Given the description of an element on the screen output the (x, y) to click on. 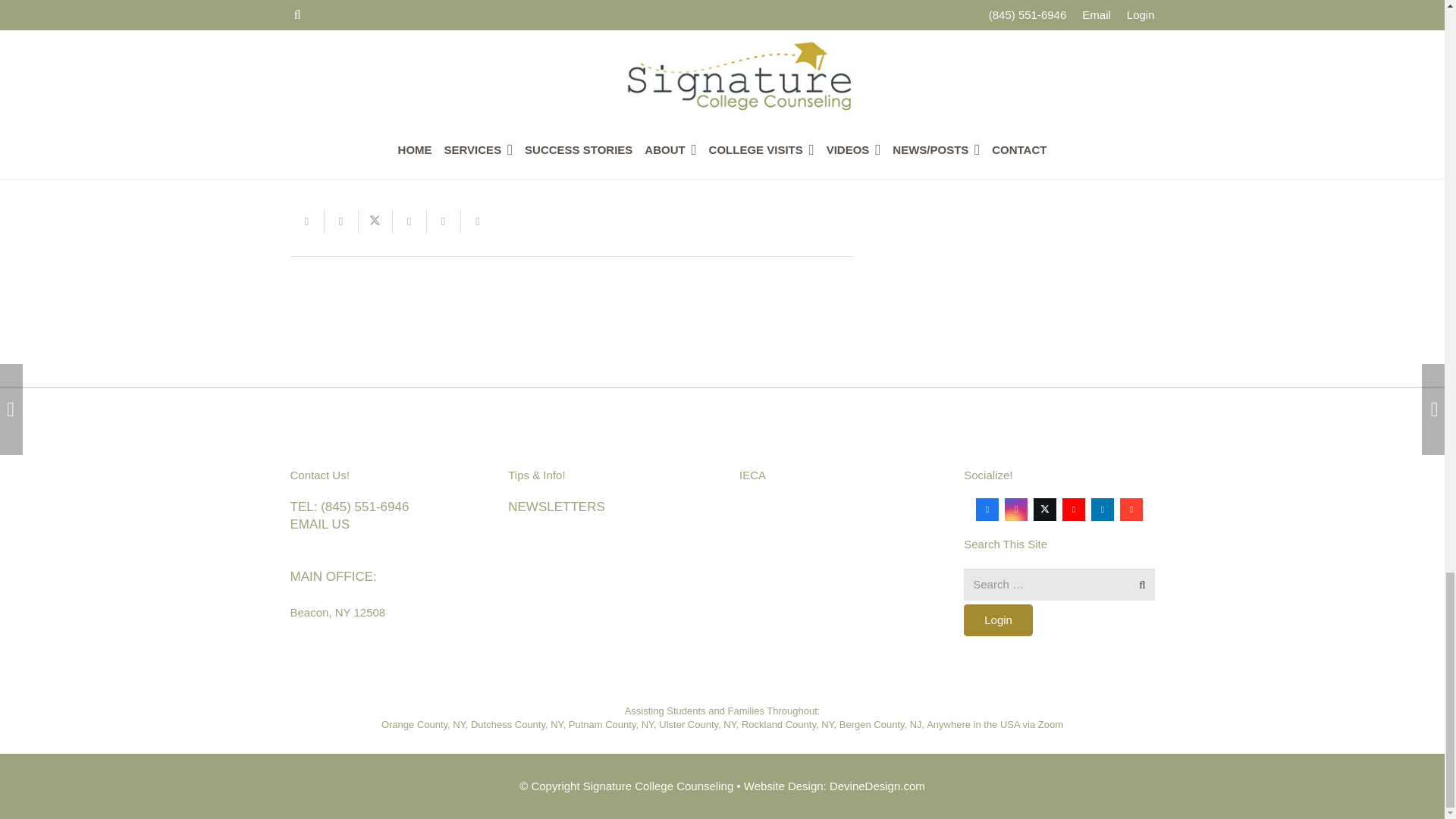
Facebook (986, 508)
Share this (409, 220)
Share this (341, 220)
LinkedIn (1101, 508)
YouTube (1073, 508)
Tweet this (374, 220)
Email this (306, 220)
Instagram (1015, 508)
Twitter (1045, 508)
Google (1130, 508)
Pin this (443, 220)
Share this (478, 220)
